Given the description of an element on the screen output the (x, y) to click on. 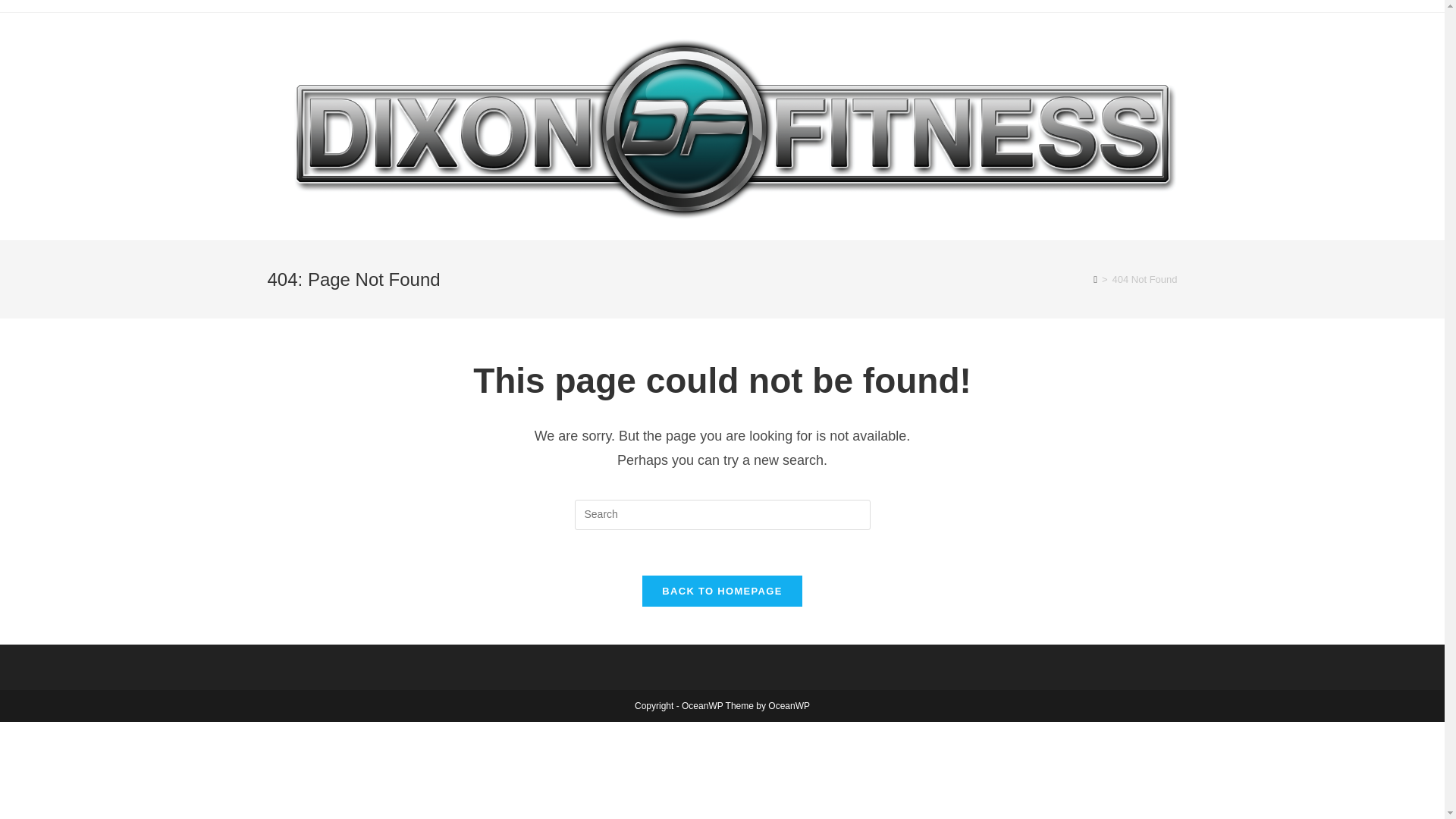
BACK TO HOMEPAGE (722, 590)
